Given the description of an element on the screen output the (x, y) to click on. 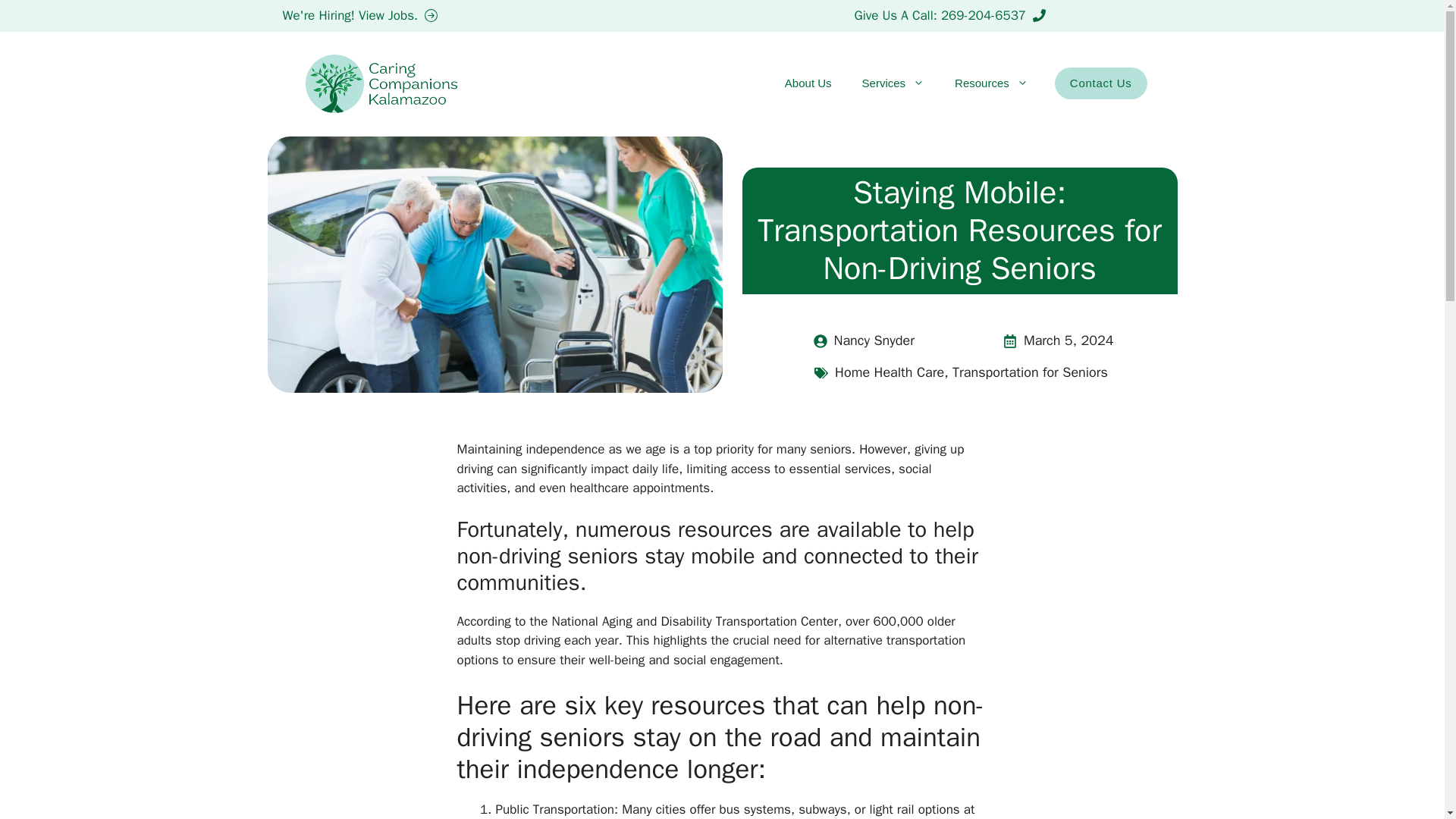
Give Us A Call: 269-204-6537 (948, 15)
Resources (991, 83)
We're Hiring! View Jobs. (358, 15)
Services (893, 83)
About Us (808, 83)
Contact Us (1100, 83)
